Given the description of an element on the screen output the (x, y) to click on. 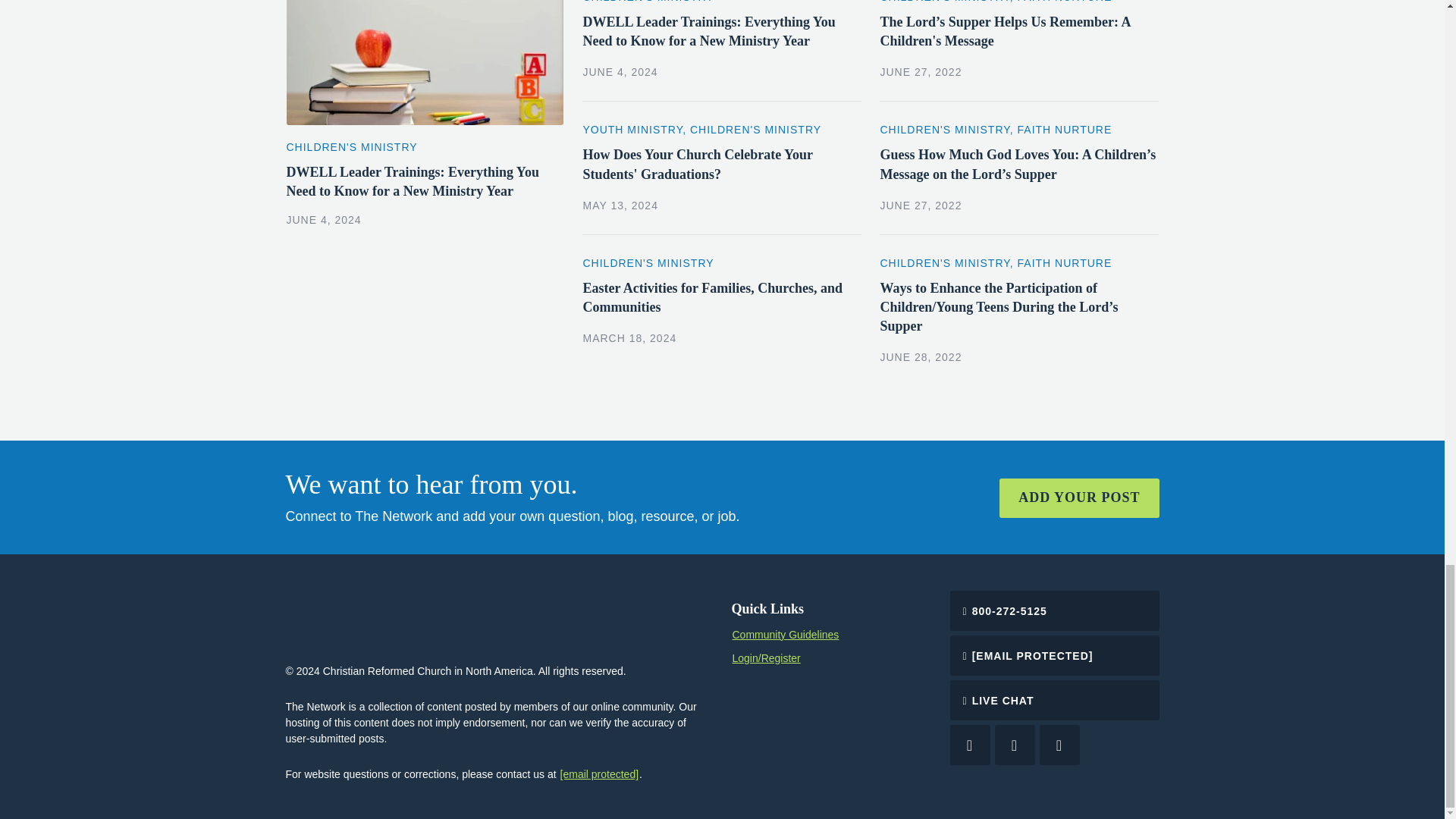
Photo by Element5 Digital on Unsplash (425, 62)
